Given the description of an element on the screen output the (x, y) to click on. 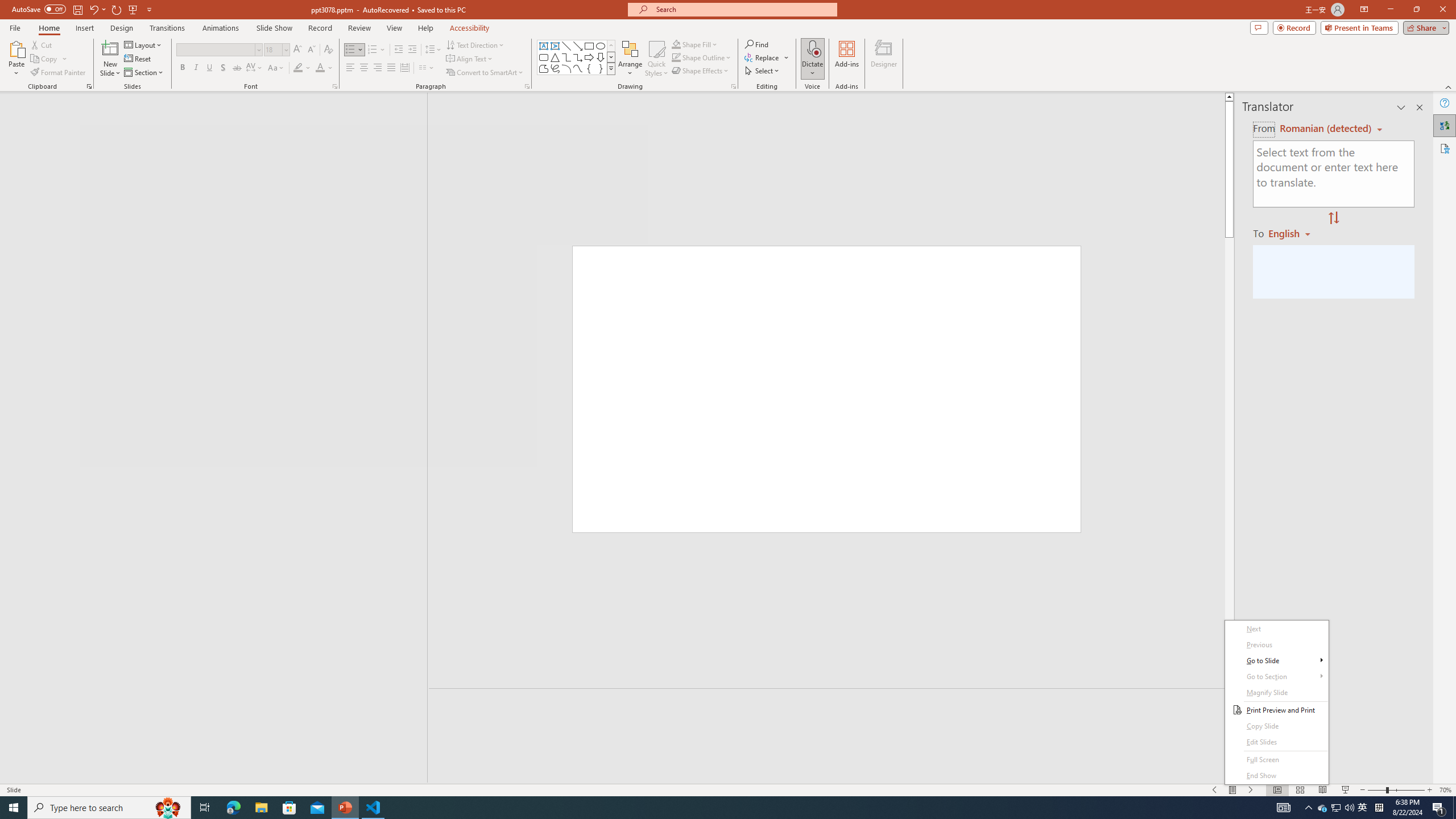
Shape Effects (700, 69)
